Given the description of an element on the screen output the (x, y) to click on. 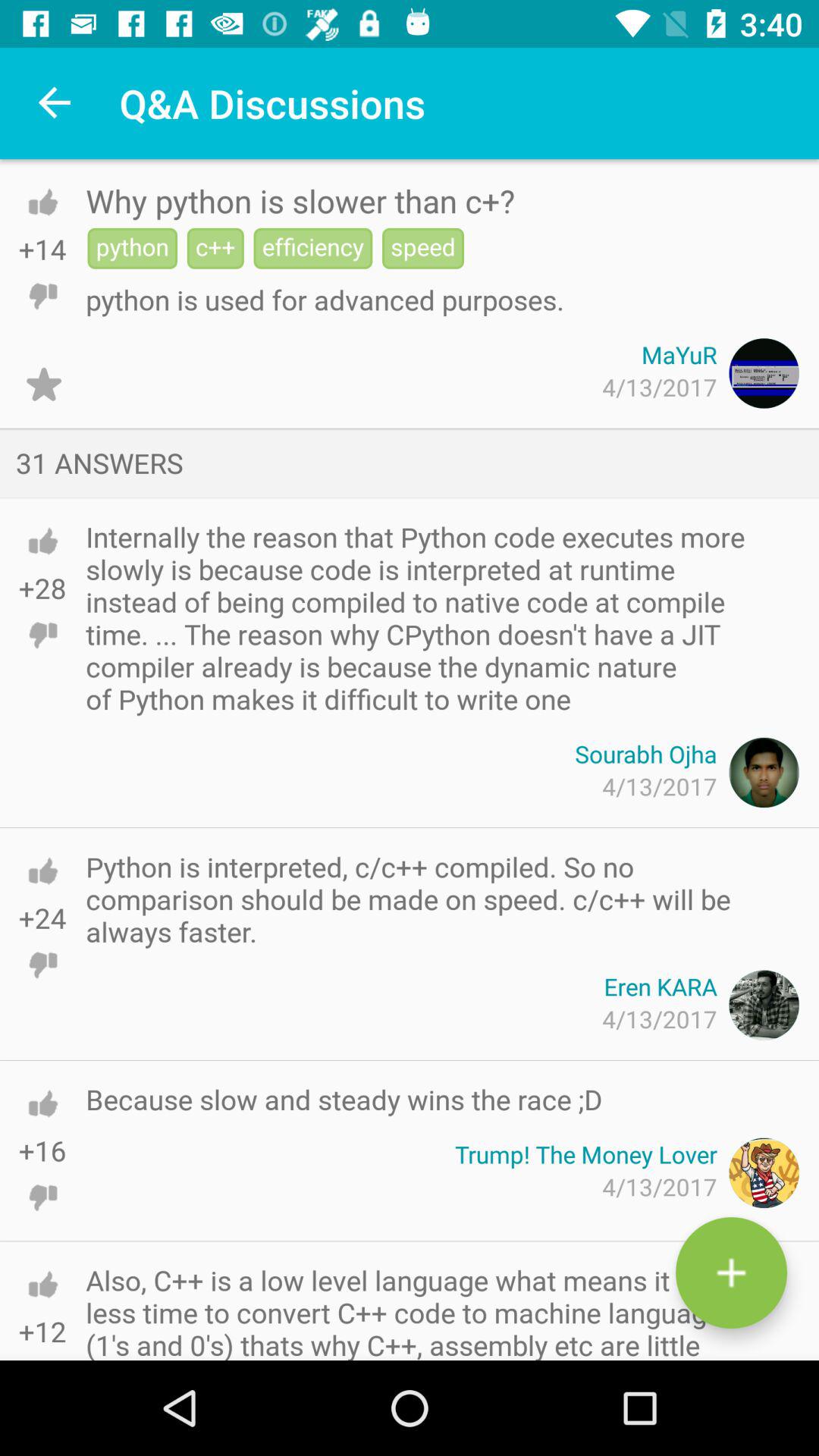
tap icon above 31 answers item (43, 384)
